Given the description of an element on the screen output the (x, y) to click on. 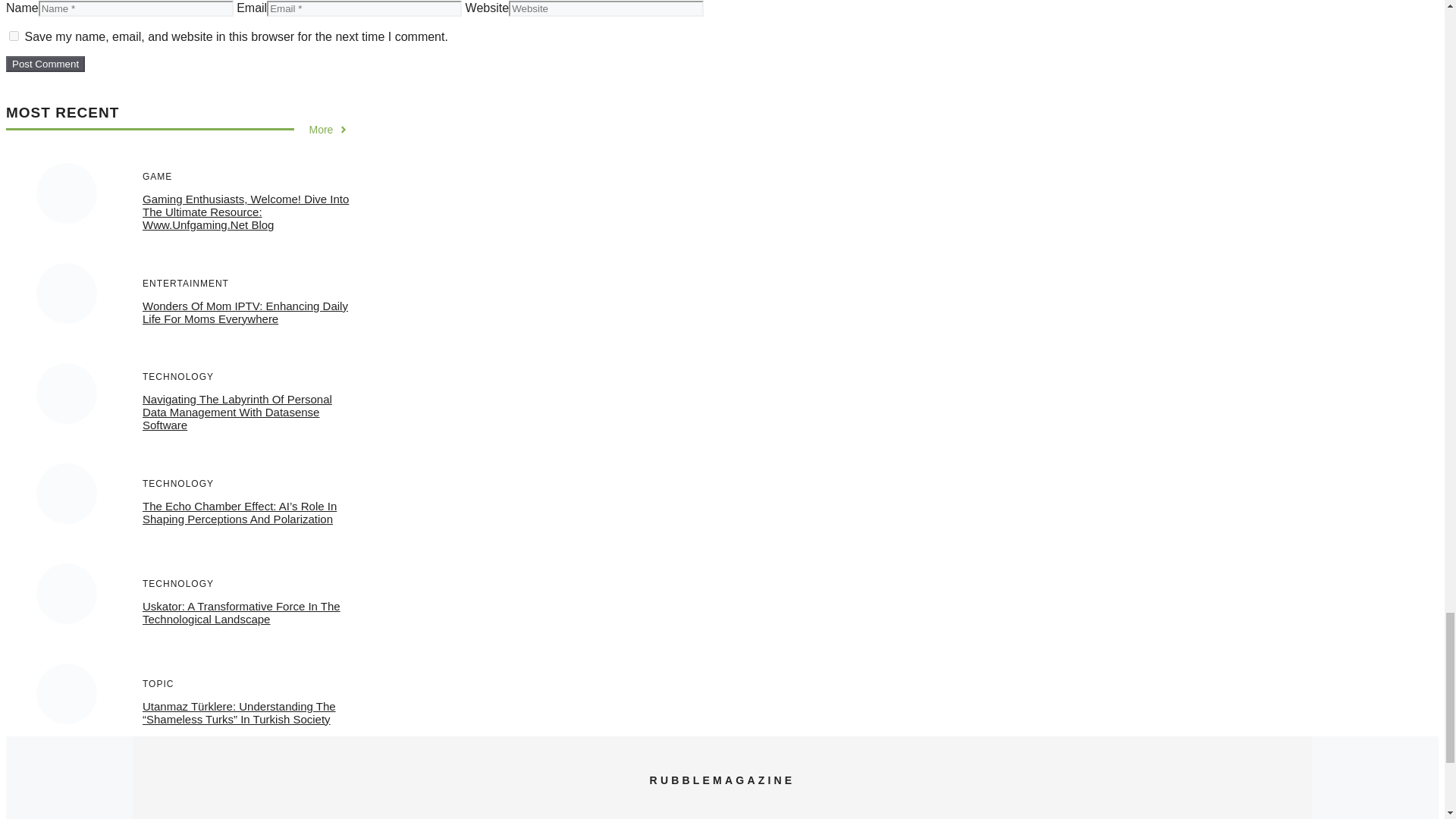
Post Comment (44, 64)
yes (13, 35)
Post Comment (44, 64)
